Given the description of an element on the screen output the (x, y) to click on. 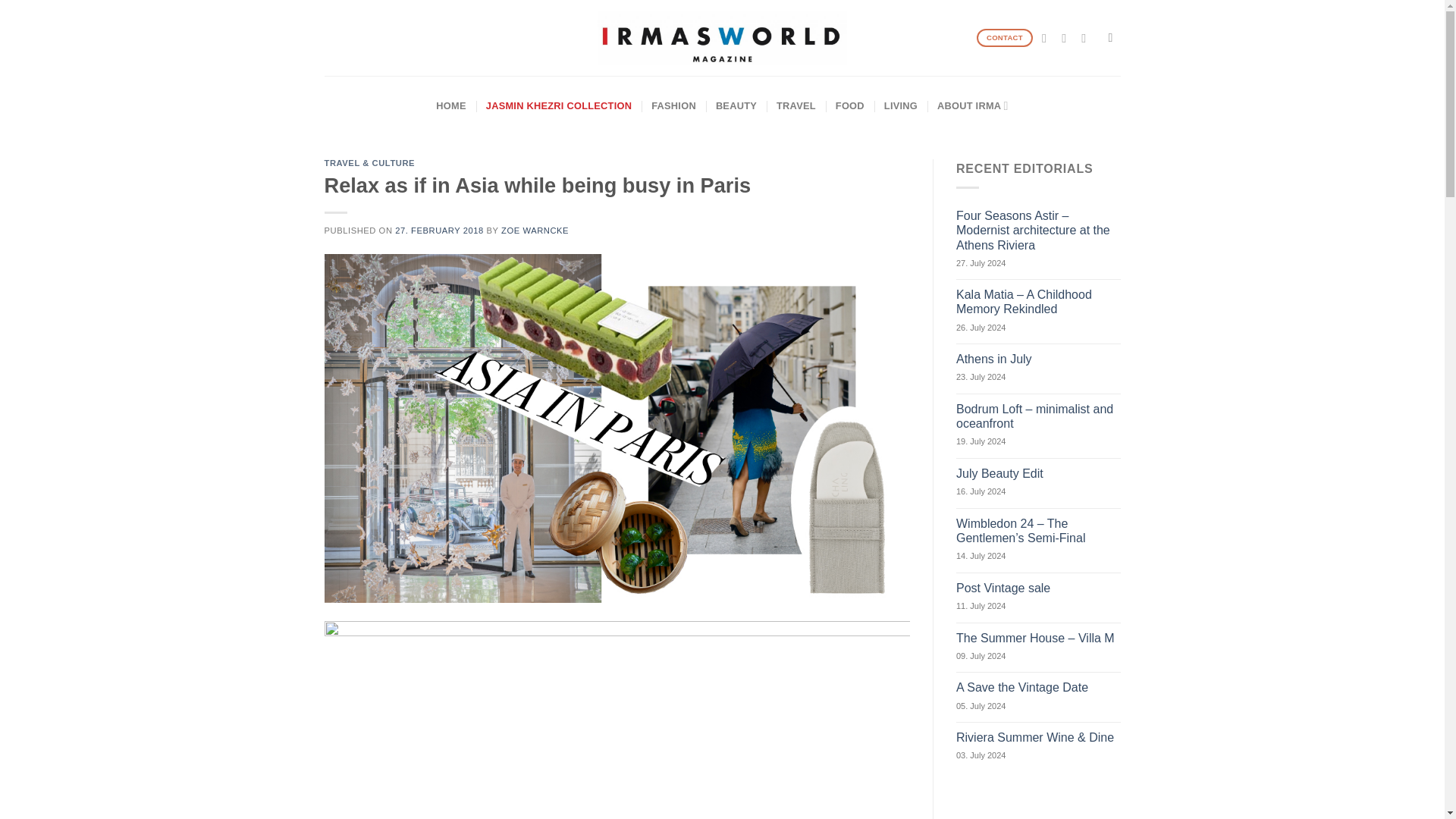
A Save the Vintage Date (1038, 687)
July Beauty Edit (1038, 473)
Post Vintage sale (1038, 587)
Athens in July (1038, 359)
ZOE WARNCKE (534, 230)
Athens in July (1038, 359)
ABOUT IRMA (973, 106)
Follow on Facebook (1048, 38)
Irmas World - by Jasmin Khezri (721, 37)
27. FEBRUARY 2018 (438, 230)
A Save the Vintage Date (1038, 687)
Post Vintage sale (1038, 587)
July Beauty Edit (1038, 473)
CONTACT (1004, 37)
JASMIN KHEZRI COLLECTION (558, 106)
